Given the description of an element on the screen output the (x, y) to click on. 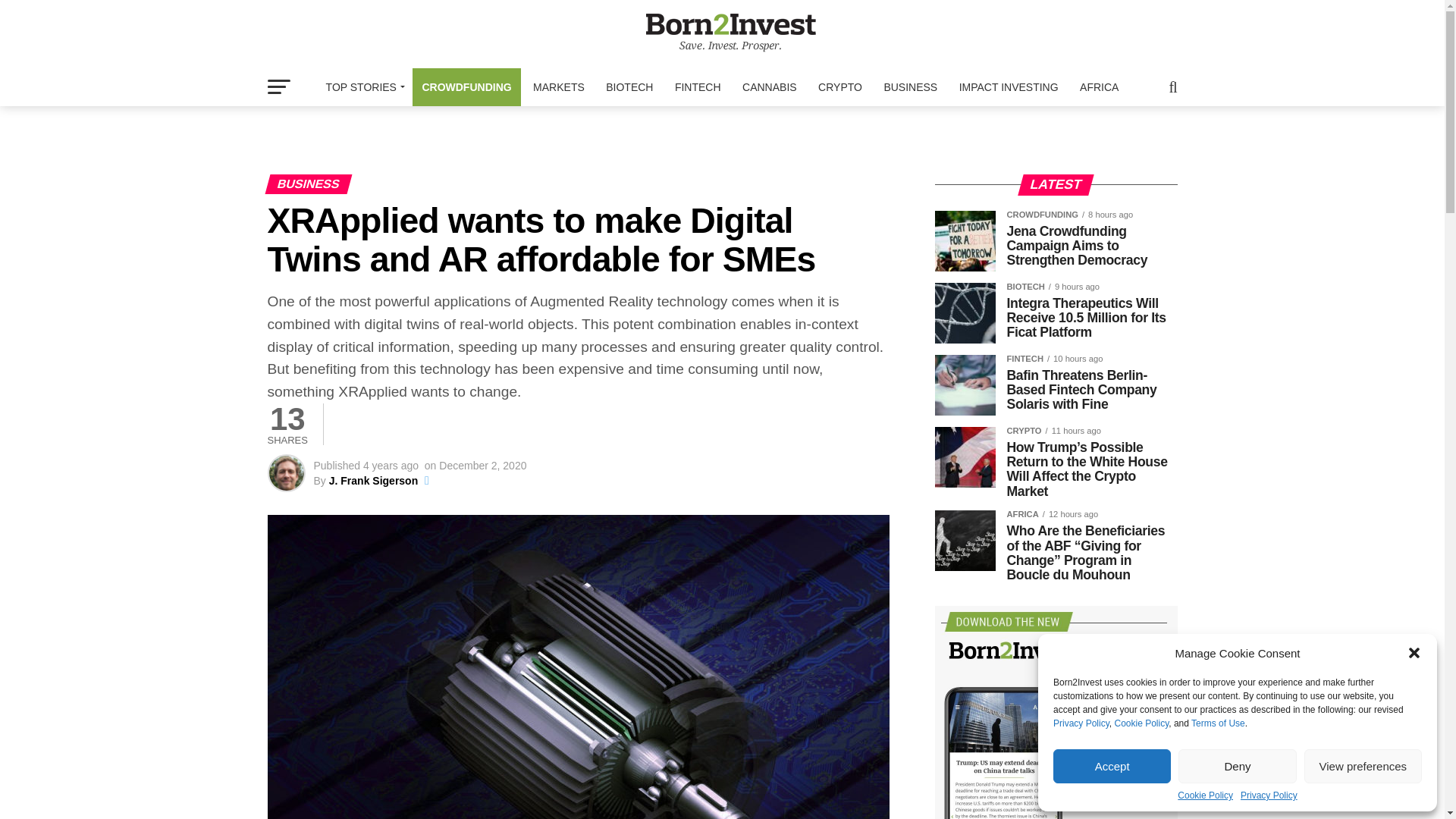
Privacy Policy (1268, 795)
Cookie Policy (1205, 795)
Privacy Policy (1080, 723)
CANNABIS (769, 86)
MARKETS (559, 86)
CROWDFUNDING (465, 86)
Terms of Use (1217, 723)
BIOTECH (629, 86)
View preferences (1363, 765)
Posts by J. Frank Sigerson (373, 480)
Accept (1111, 765)
Cookie Policy (1141, 723)
FINTECH (697, 86)
Deny (1236, 765)
TOP STORIES (363, 86)
